Given the description of an element on the screen output the (x, y) to click on. 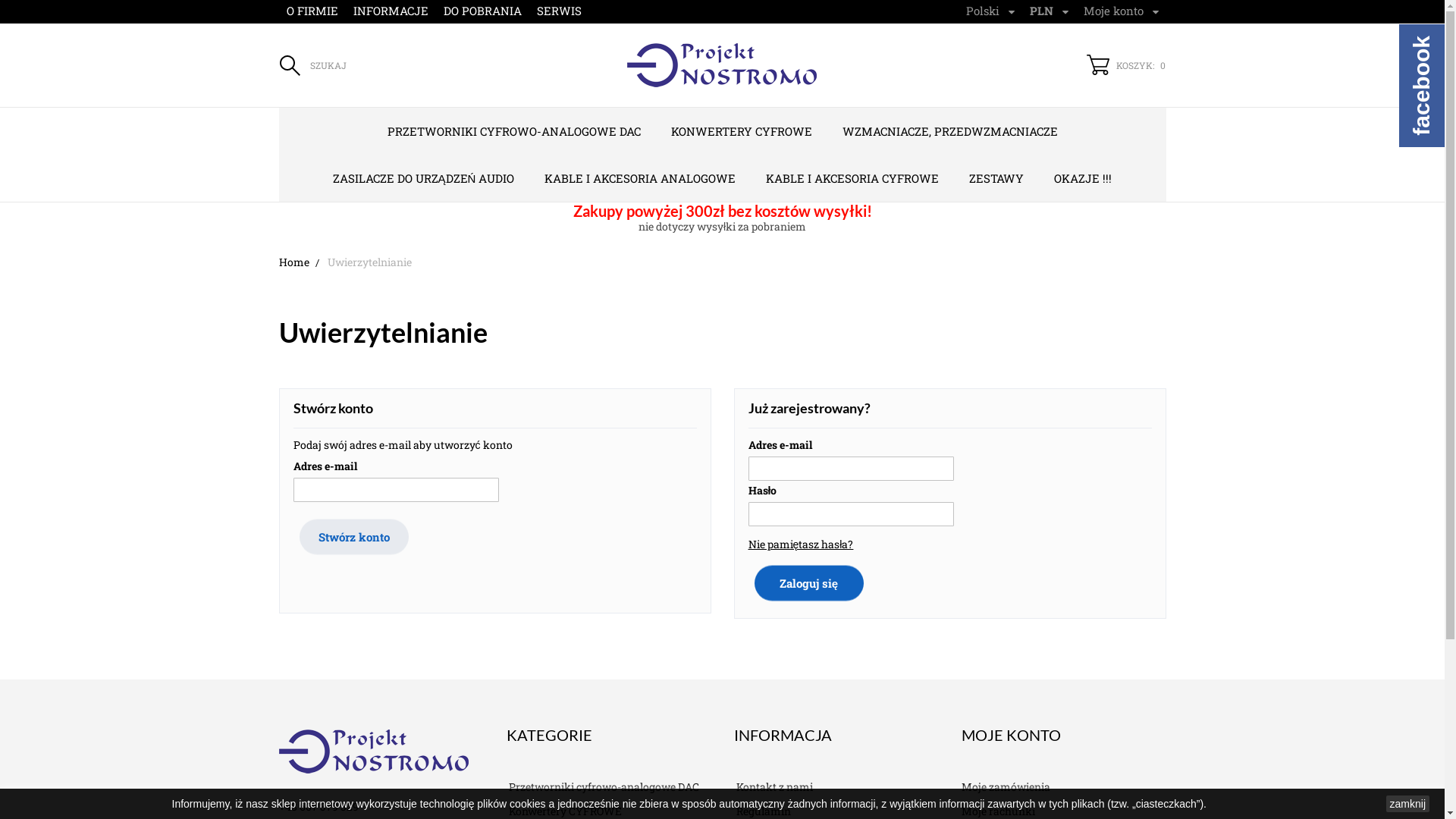
KABLE I AKCESORIA ANALOGOWE Element type: text (639, 177)
+48 607 379 329 Element type: text (318, 806)
Kontakt z nami Element type: text (773, 786)
WZMACNIACZE, PRZEDWZMACNIACZE Element type: text (949, 130)
KONWERTERY CYFROWE Element type: text (740, 130)
Projekt NOSTROMO Marek Kowzan Element type: hover (373, 749)
DO POBRANIA Element type: text (481, 11)
MOJE KONTO Element type: text (1010, 734)
SERWIS Element type: text (559, 11)
ZESTAWY Element type: text (995, 177)
PRZETWORNIKI CYFROWO-ANALOGOWE DAC Element type: text (513, 130)
Przetworniki cyfrowo-analogowe DAC Element type: text (602, 786)
Regulamin Element type: text (762, 810)
zamknij Element type: text (1407, 803)
Projekt NOSTROMO Marek Kowzan Element type: hover (721, 64)
Moje rachunki Element type: text (998, 810)
Home Element type: text (302, 261)
OKAZJE !!! Element type: text (1082, 177)
Konwertery CYFROWE Element type: text (563, 810)
INFORMACJE Element type: text (390, 11)
KABLE I AKCESORIA CYFROWE Element type: text (851, 177)
O FIRMIE Element type: text (312, 11)
KOSZYK: 0 Element type: text (1125, 64)
